Given the description of an element on the screen output the (x, y) to click on. 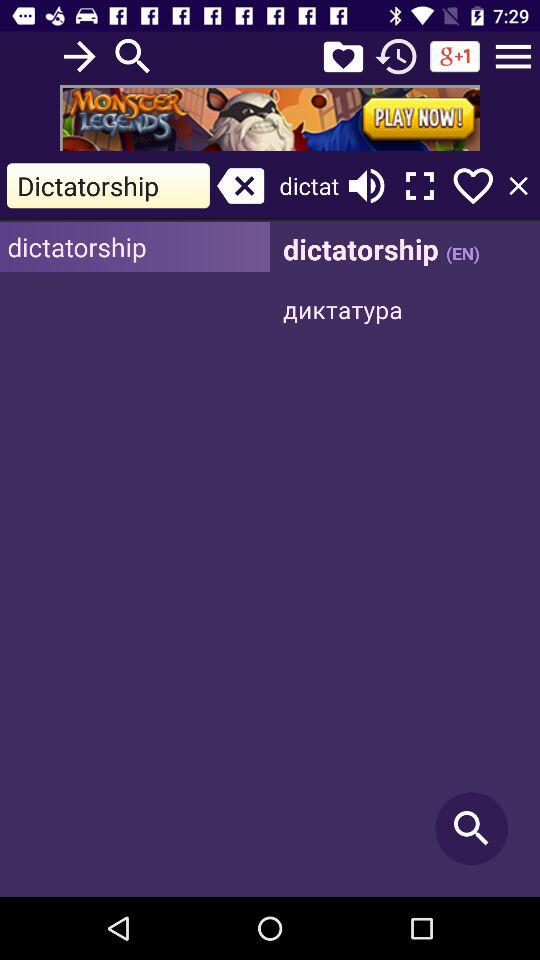
click search (405, 559)
